Given the description of an element on the screen output the (x, y) to click on. 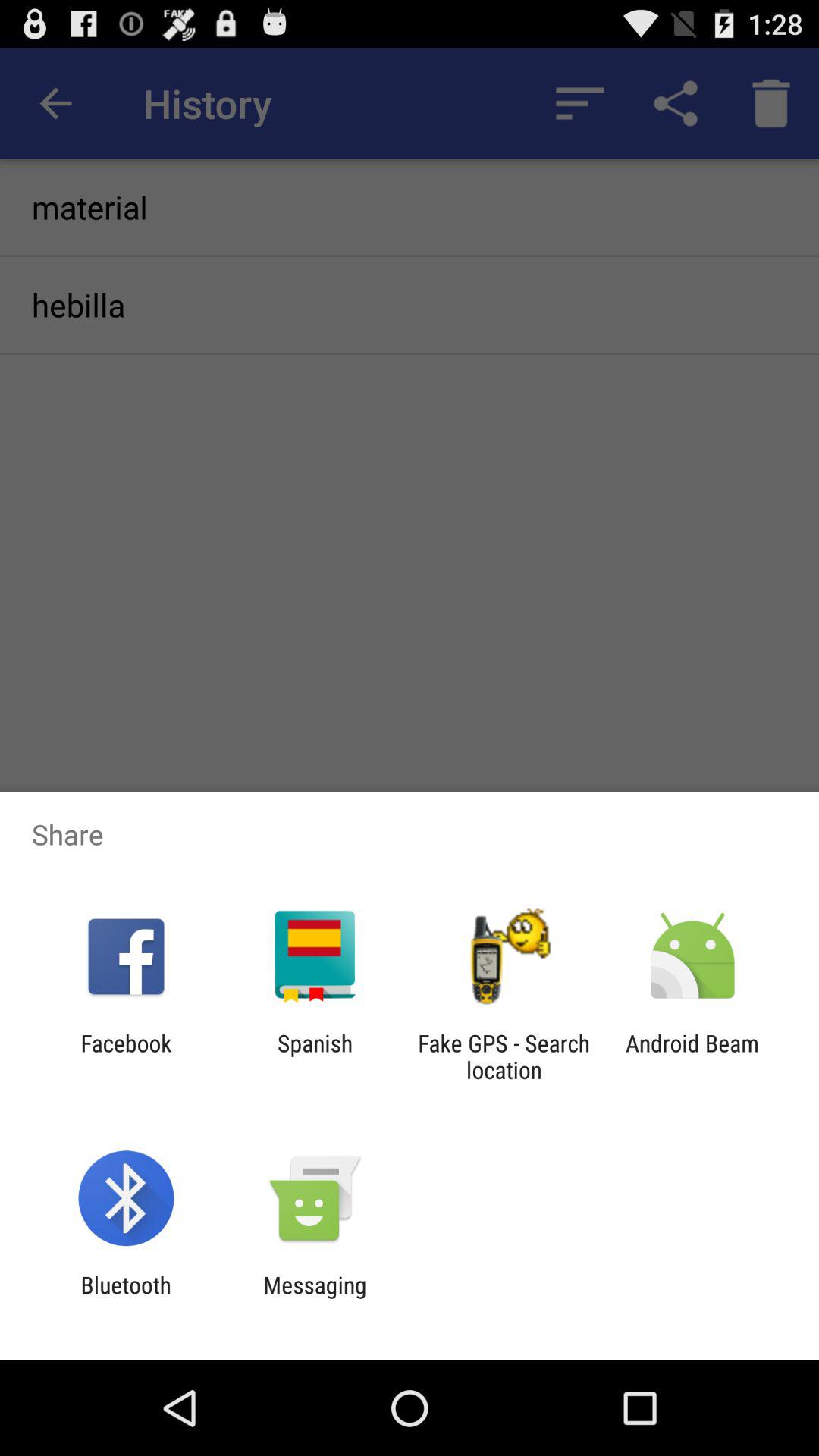
open the icon to the right of fake gps search app (692, 1056)
